Given the description of an element on the screen output the (x, y) to click on. 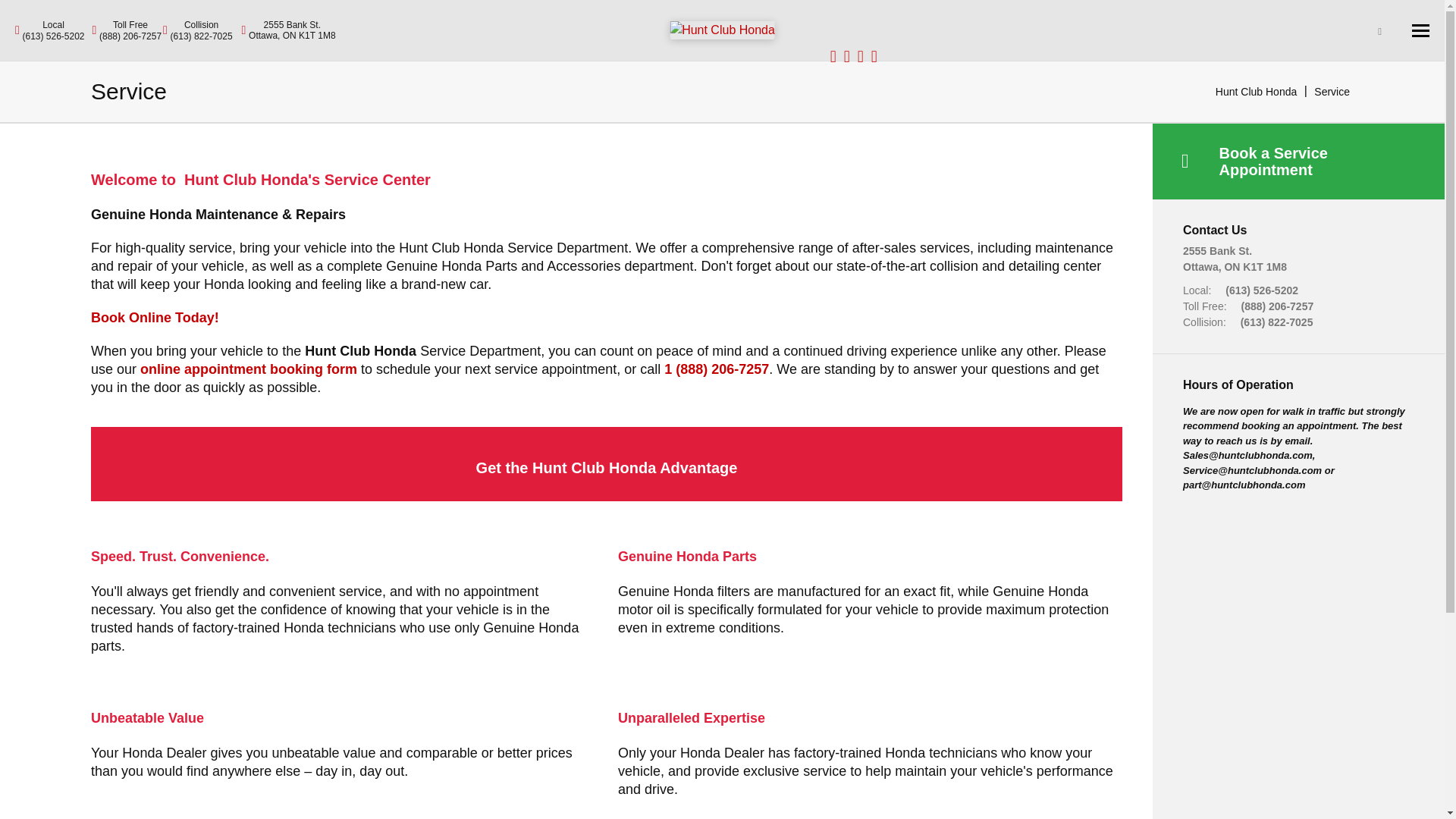
Go to Hunt Club Honda. (1256, 91)
 Hunt Club Honda (288, 29)
